Given the description of an element on the screen output the (x, y) to click on. 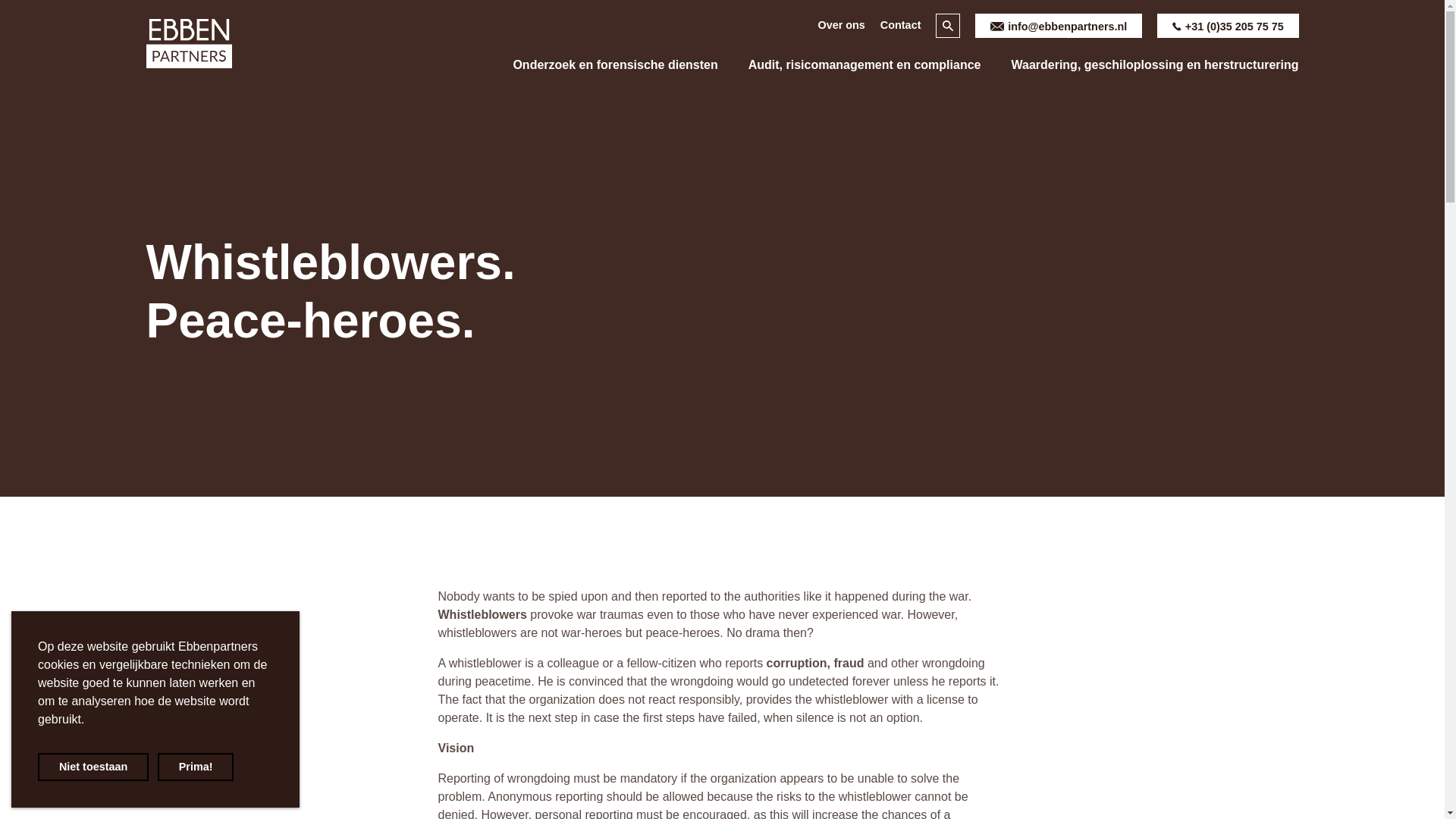
Over ons (840, 25)
Audit, risicomanagement en compliance (864, 65)
Onderzoek en forensische diensten (614, 65)
Contact (900, 25)
